Given the description of an element on the screen output the (x, y) to click on. 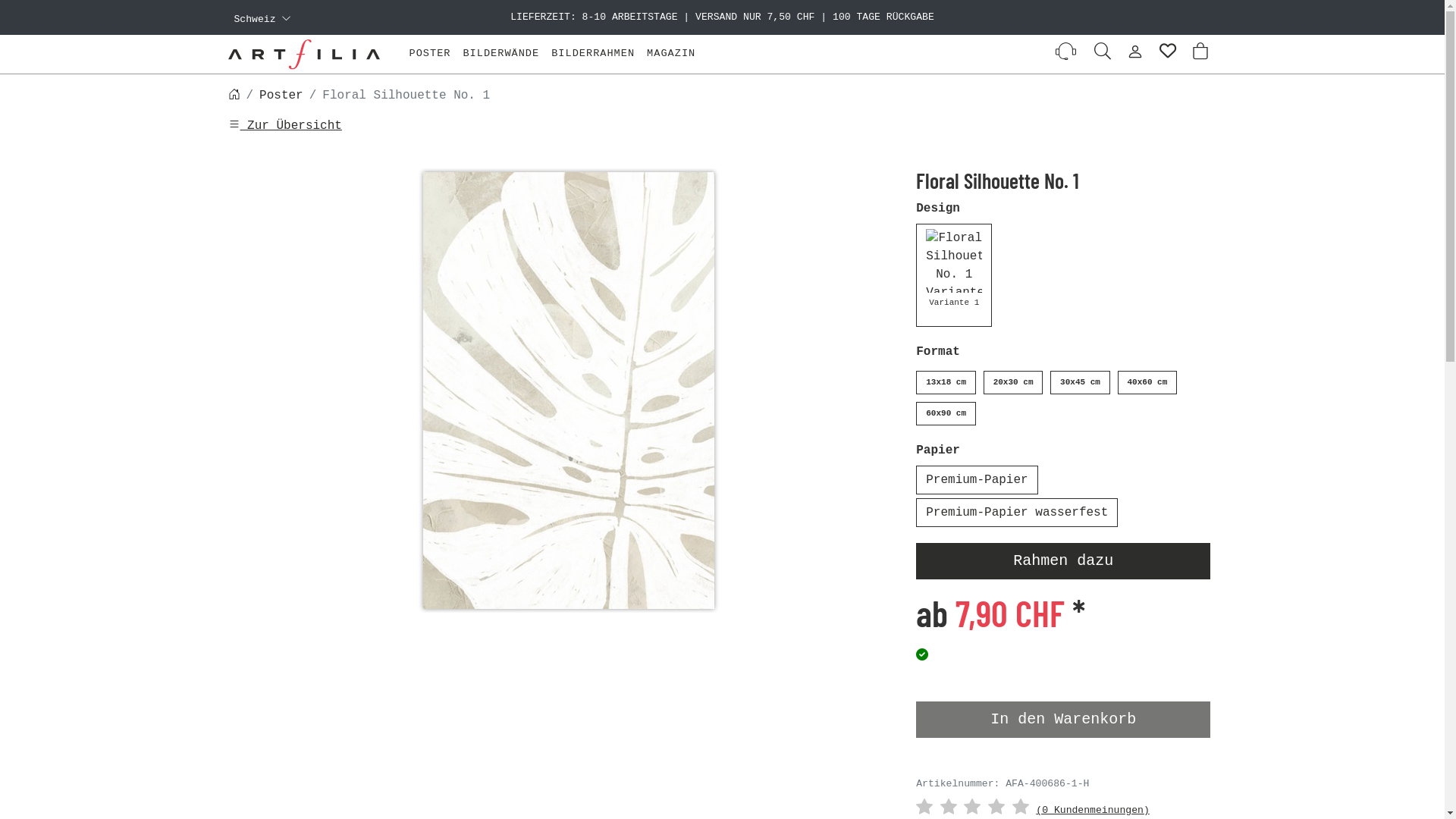
(0 Kundenmeinungen) Element type: text (1091, 809)
POSTER Element type: text (430, 53)
Rahmen dazu Element type: text (1063, 560)
Startseite Element type: hover (233, 95)
20x30 cm Element type: text (1013, 382)
MAGAZIN Element type: text (670, 53)
Schweiz Element type: text (262, 18)
Premium-Papier wasserfest Element type: text (1016, 512)
BILDERRAHMEN Element type: text (592, 53)
13x18 cm Element type: text (945, 382)
60x90 cm Element type: text (945, 413)
40x60 cm Element type: text (1147, 382)
Kontakt Element type: hover (1066, 53)
Mein Wunschzettel Element type: hover (1166, 53)
Poster Element type: text (281, 95)
30x45 cm Element type: text (1080, 382)
Variante 1 Element type: text (953, 274)
Artfilia.ch Element type: hover (309, 53)
Premium-Papier Element type: text (976, 479)
In den Warenkorb Element type: text (1063, 719)
